Given the description of an element on the screen output the (x, y) to click on. 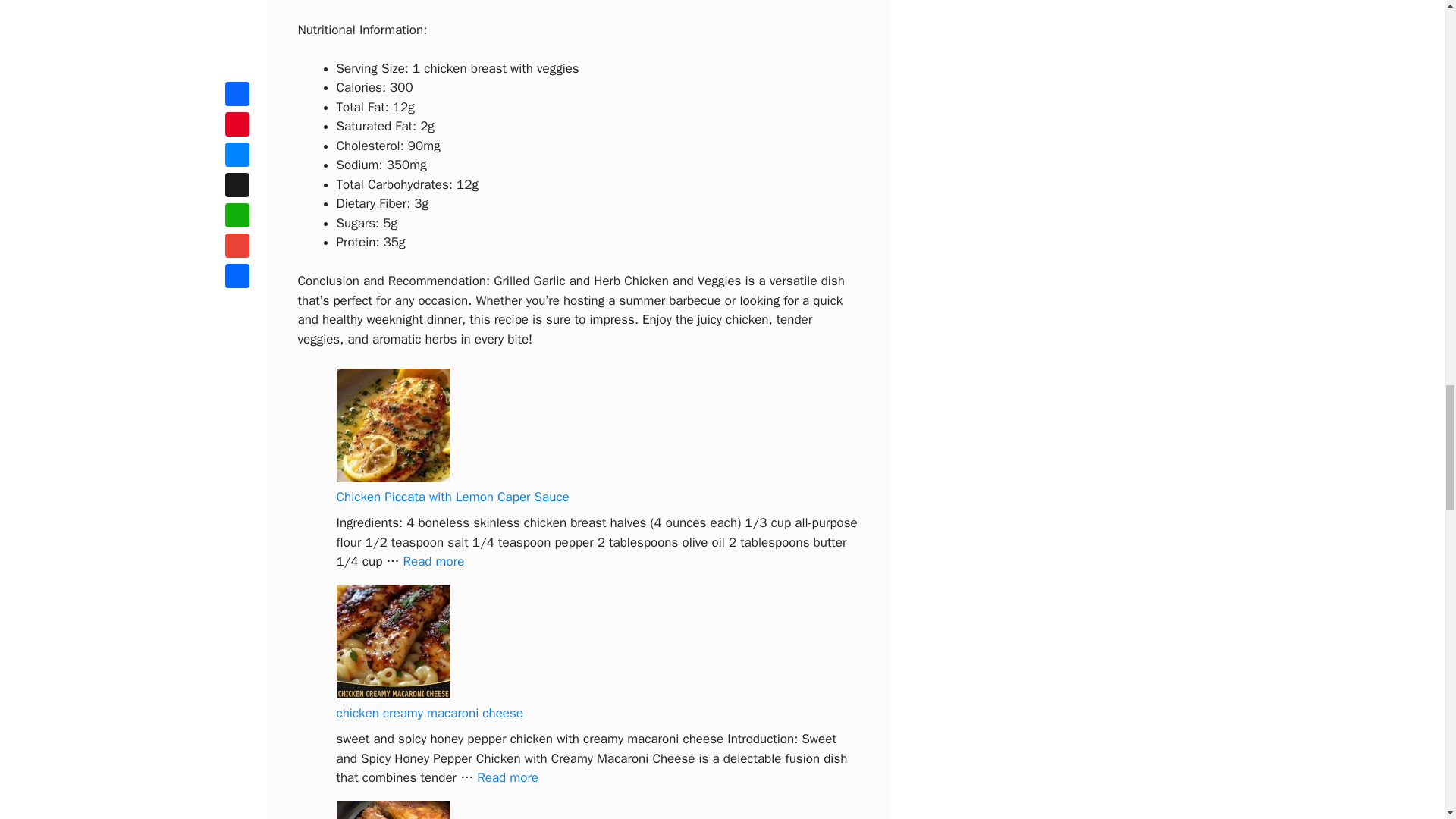
Read more (433, 561)
Read more (507, 777)
chicken creamy macaroni cheese (507, 777)
Chicken Piccata with Lemon Caper Sauce (452, 496)
chicken creamy macaroni cheese (430, 713)
Chicken Piccata with Lemon Caper Sauce (433, 561)
